Given the description of an element on the screen output the (x, y) to click on. 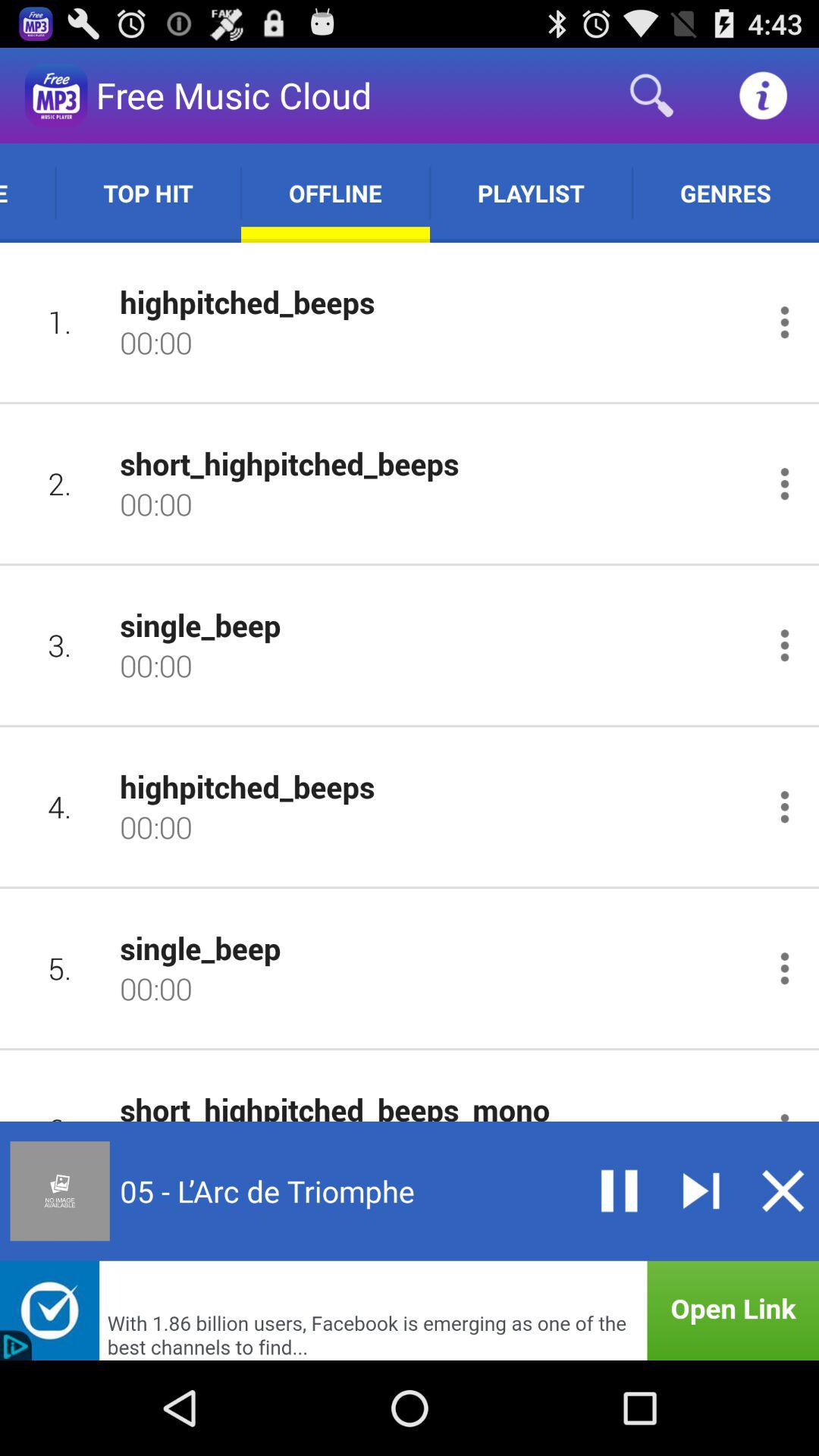
options songs menu button (784, 322)
